Given the description of an element on the screen output the (x, y) to click on. 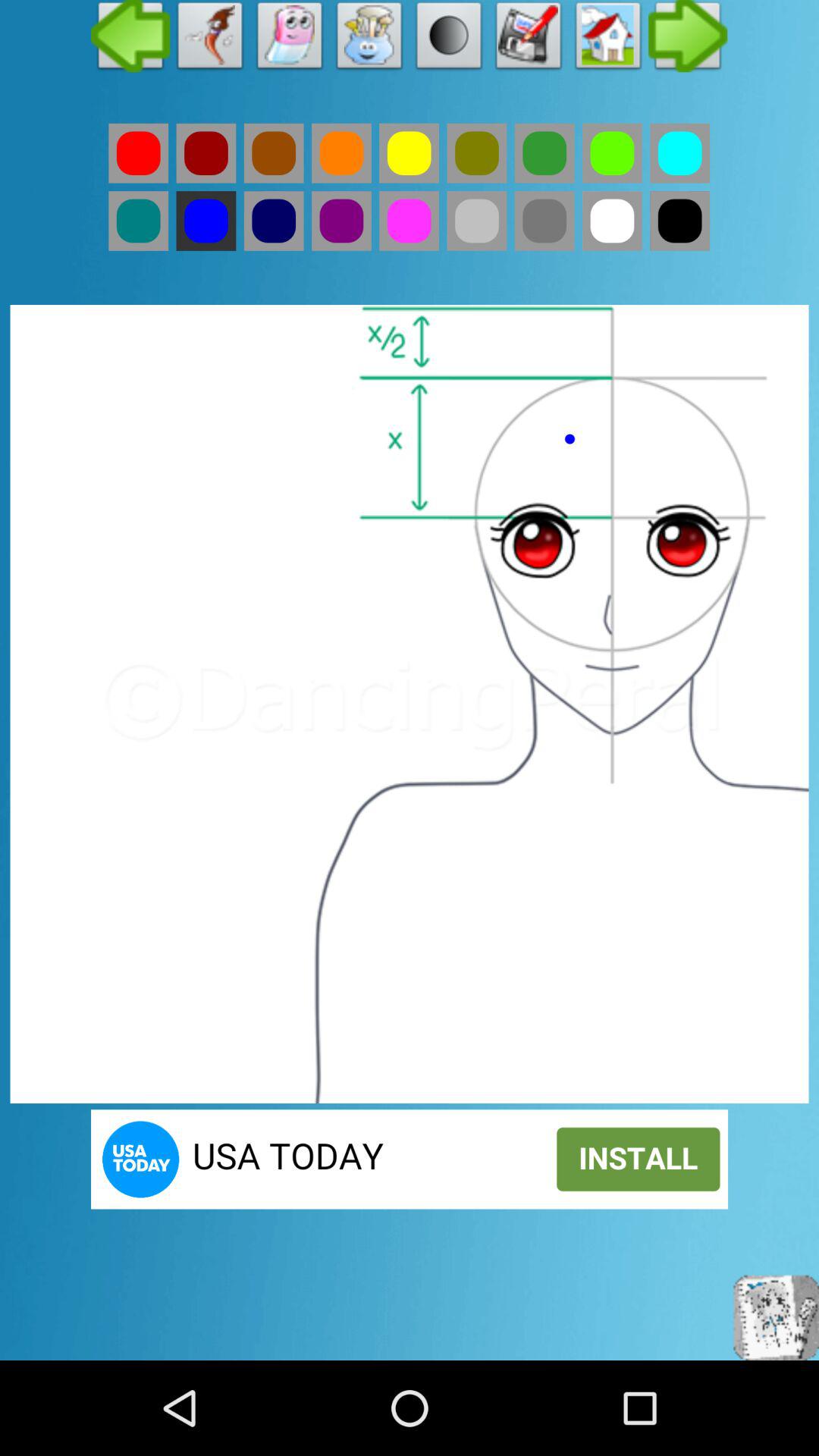
go back button option (138, 153)
